Given the description of an element on the screen output the (x, y) to click on. 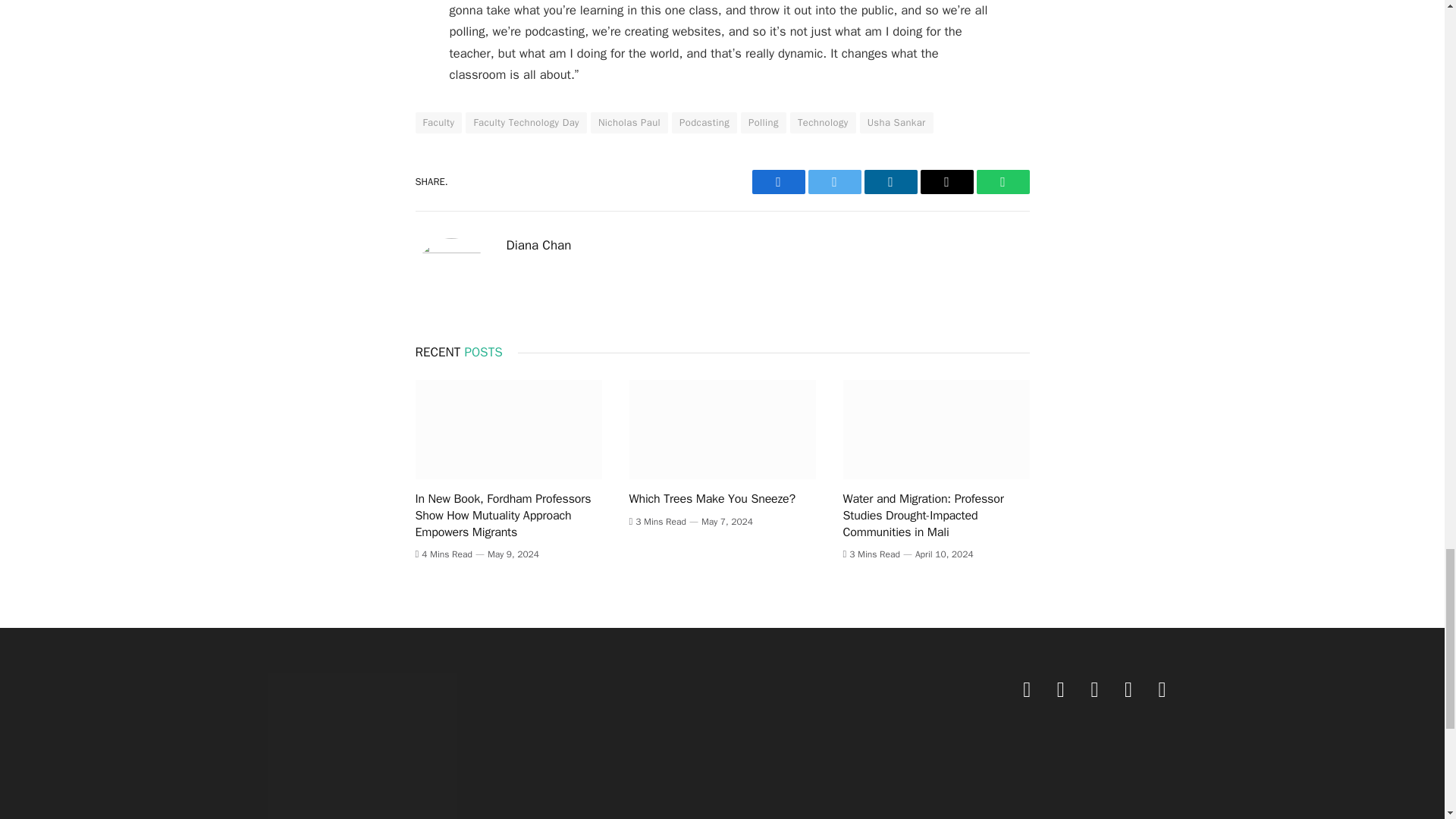
Share on LinkedIn (890, 181)
Posts by Diana Chan (539, 245)
Share on Facebook (778, 181)
Share on WhatsApp (1002, 181)
Which Trees Make You Sneeze? (721, 429)
Share via Email (947, 181)
